Given the description of an element on the screen output the (x, y) to click on. 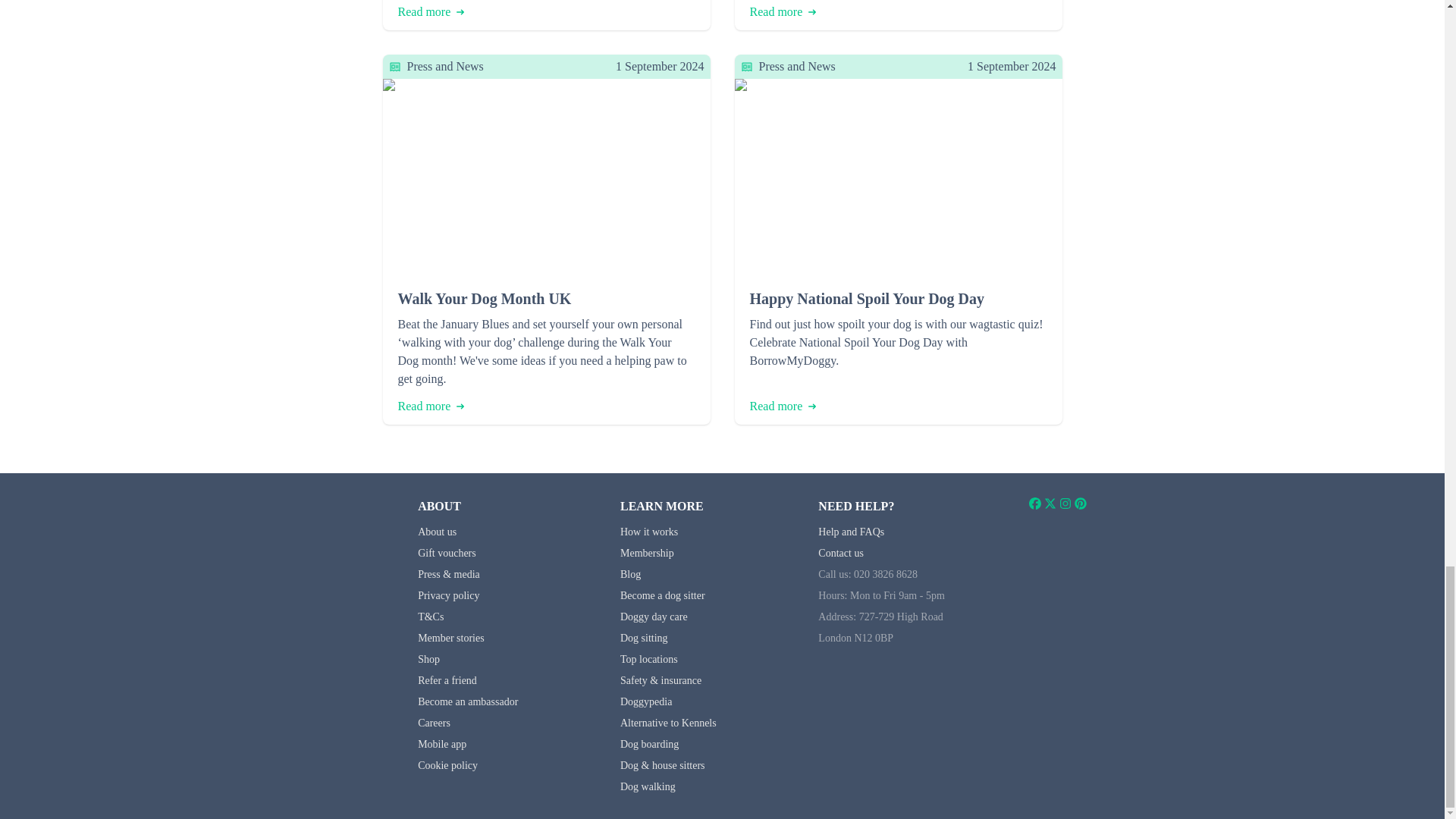
Careers (433, 722)
Mobile app (441, 744)
Happy National Spoil Your Dog Day (897, 298)
Read more (782, 406)
Gift vouchers (446, 552)
Become an ambassador (467, 701)
Read more (430, 406)
Read more (430, 12)
Privacy policy (448, 595)
Walk Your Dog Month UK (545, 298)
